Given the description of an element on the screen output the (x, y) to click on. 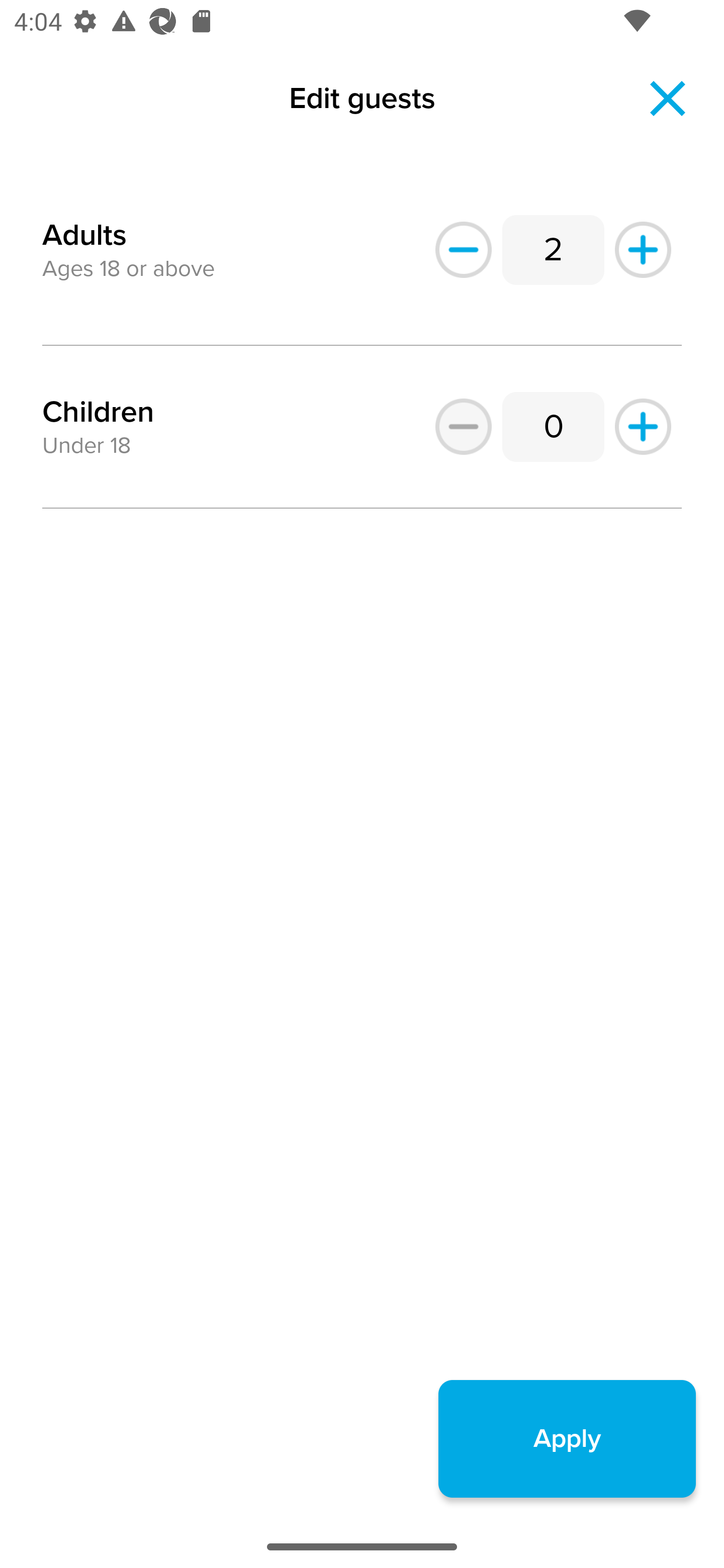
Adults (83, 223)
Children (97, 412)
Apply (566, 1438)
